Given the description of an element on the screen output the (x, y) to click on. 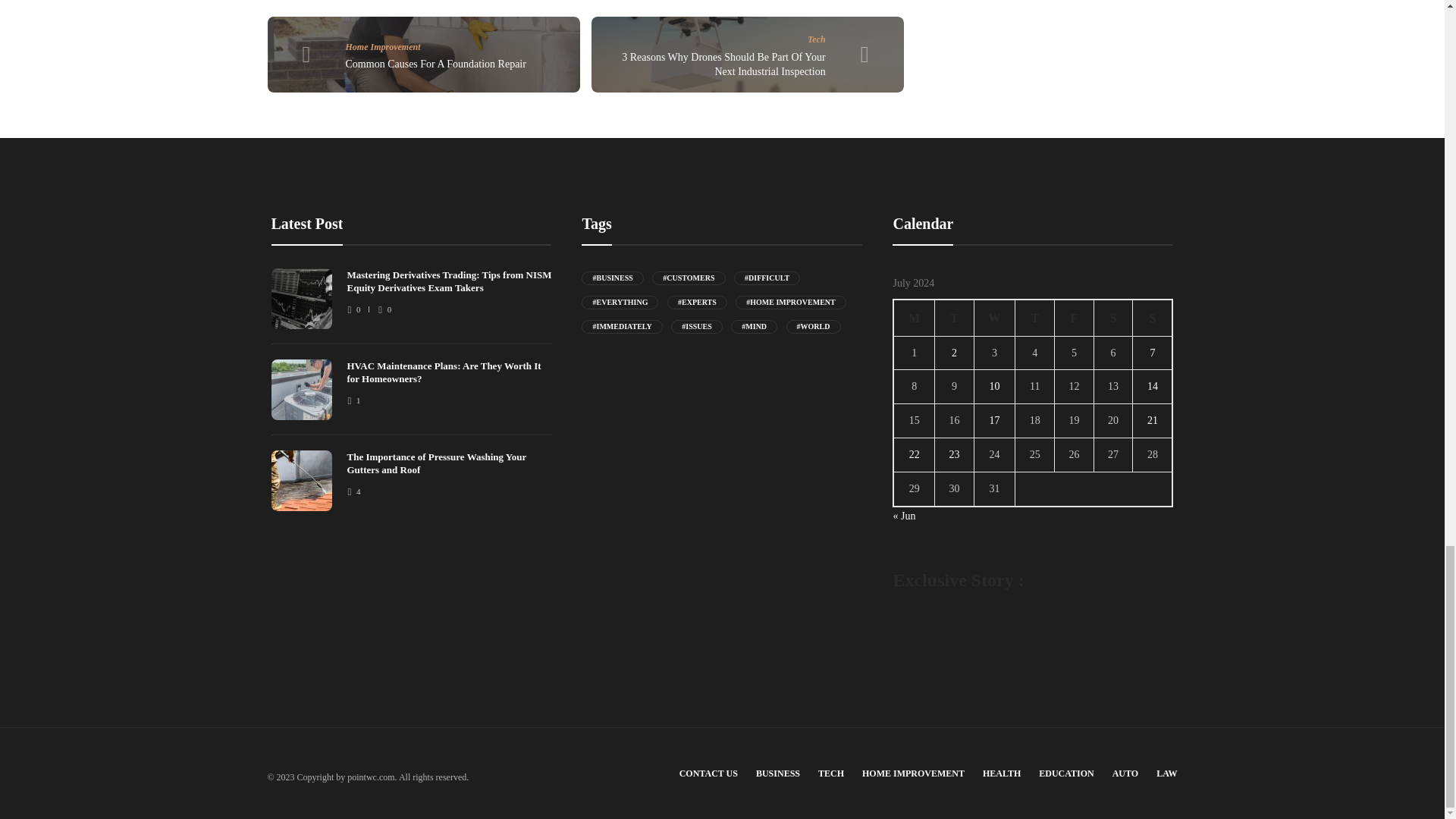
Wednesday (994, 316)
Tuesday (954, 316)
Monday (913, 316)
Sunday (1152, 316)
Saturday (1112, 316)
Thursday (1034, 316)
Friday (1074, 316)
